Given the description of an element on the screen output the (x, y) to click on. 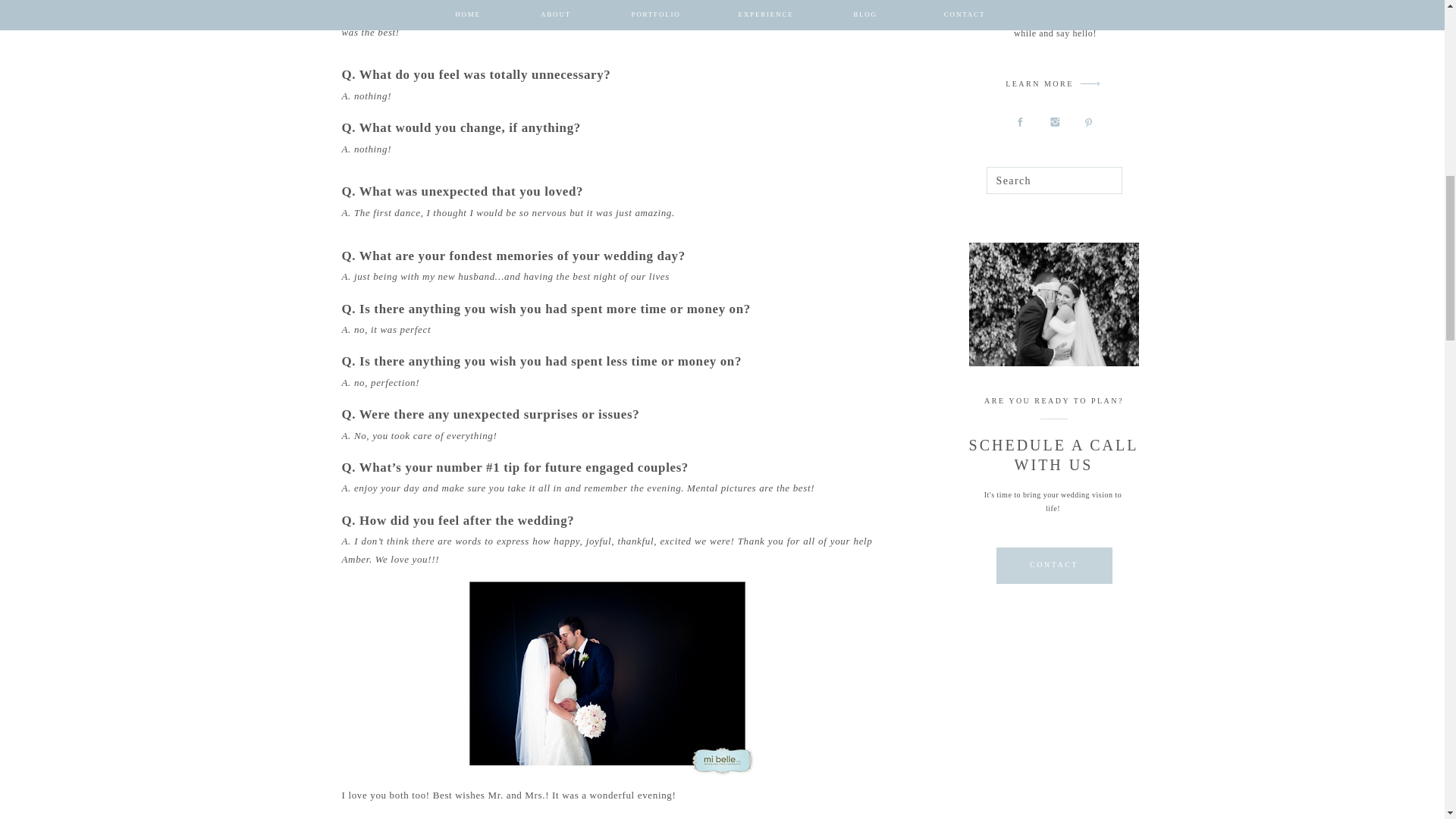
arrow (1089, 83)
arrow (1089, 83)
CONTACT (1053, 564)
LEARN MORE (1039, 85)
